Given the description of an element on the screen output the (x, y) to click on. 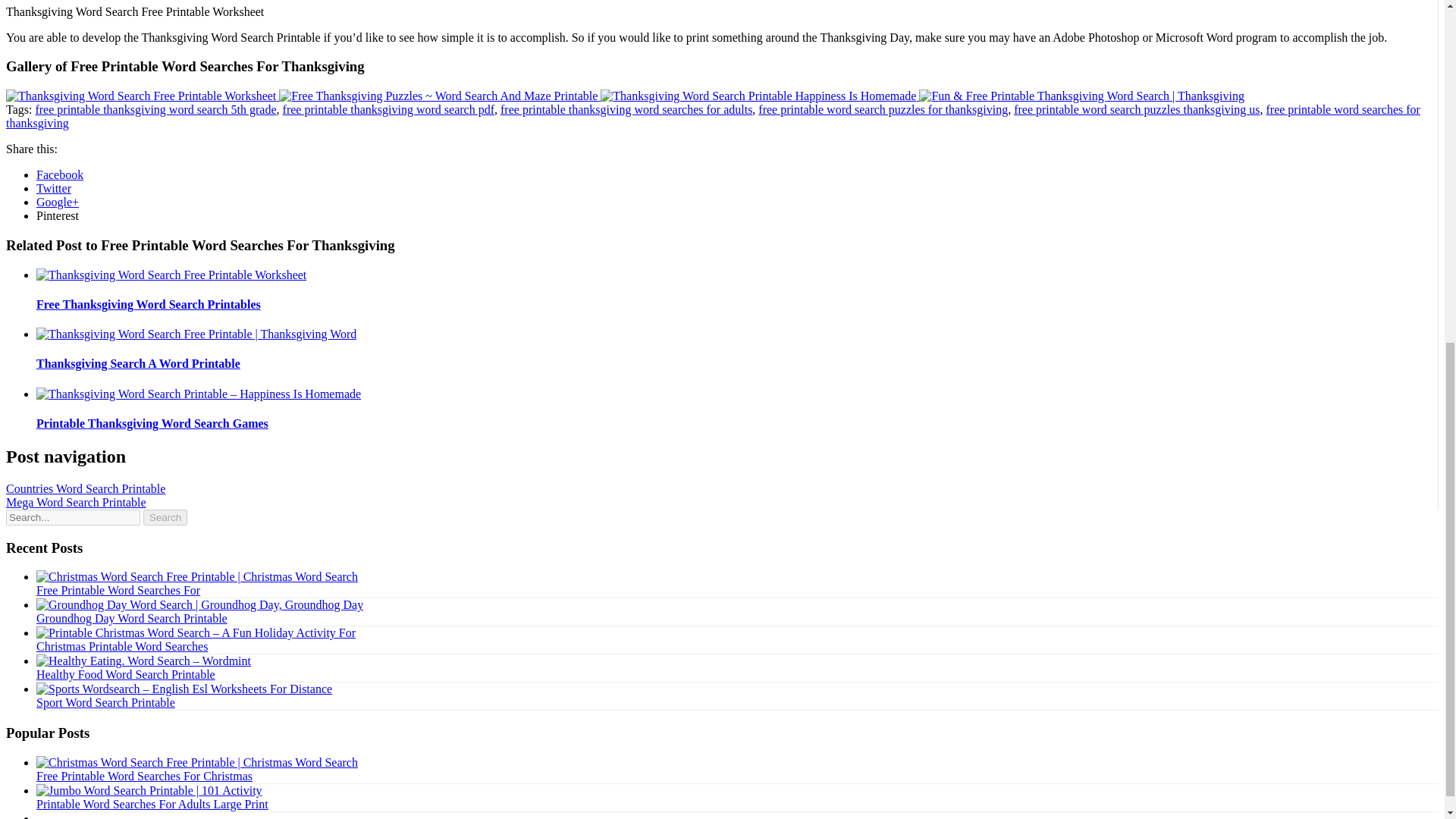
Thanksgiving Word Search Free Printable Worksheet (140, 96)
Search (164, 517)
Free Printable Word Searches For (118, 590)
Groundhog Day Word Search Printable (131, 617)
Thanksgiving Word Search Printable   Happiness Is Homemade (757, 96)
Countries Word Search Printable (85, 488)
Thanksgiving Search A Word Printable (138, 363)
Pinterest (57, 215)
Healthy Food Word Search Printable (125, 674)
Free Thanksgiving Word Search Printables (148, 304)
free printable word search puzzles thanksgiving us (1136, 109)
Thanksgiving Word Search Free Printable Worksheet (142, 95)
Thanksgiving Search A Word Printable (138, 363)
Mega Word Search Printable (76, 502)
Facebook (59, 174)
